Given the description of an element on the screen output the (x, y) to click on. 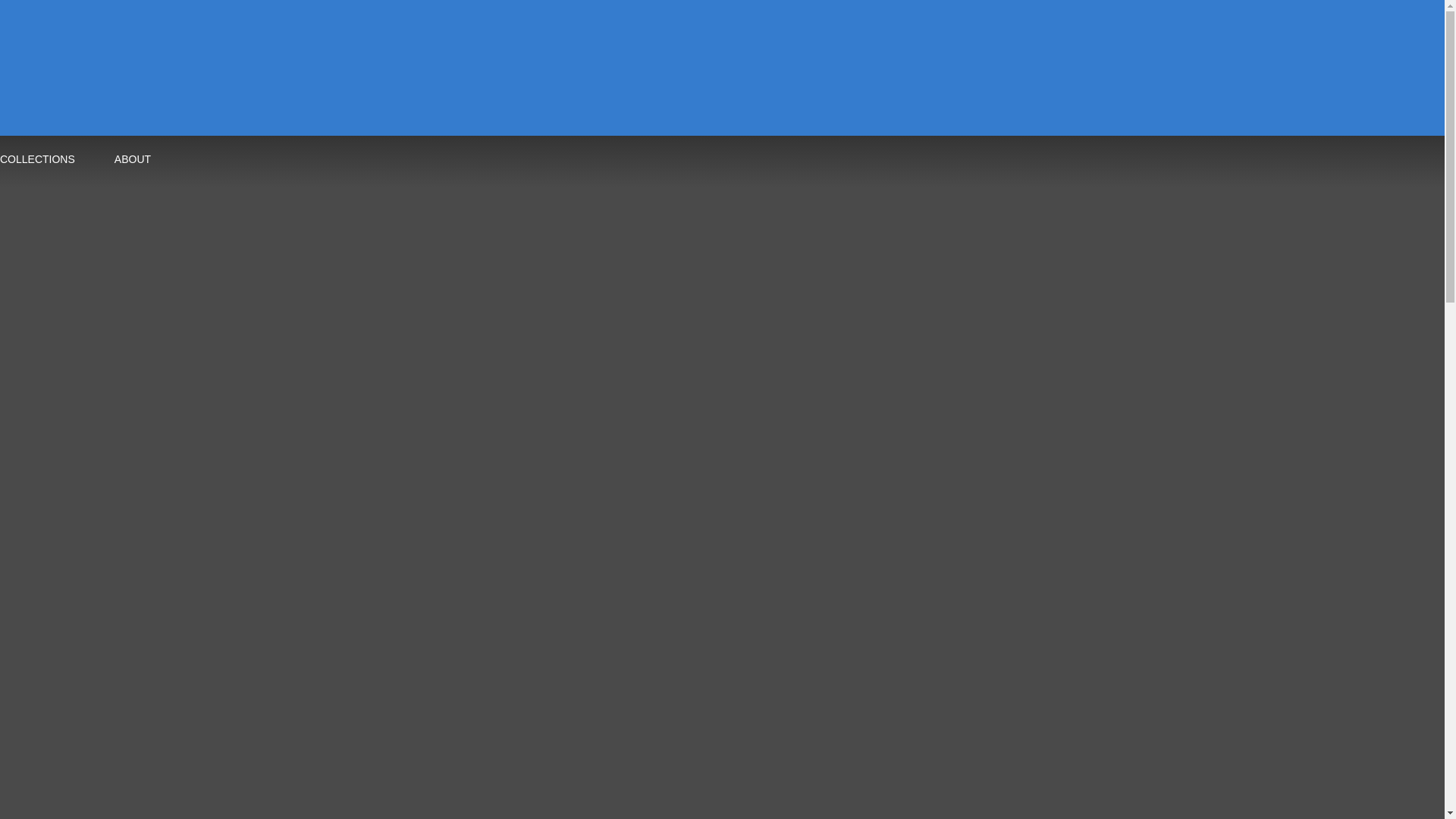
COLLECTIONS (41, 160)
Search (730, 53)
ABOUT (128, 160)
